Given the description of an element on the screen output the (x, y) to click on. 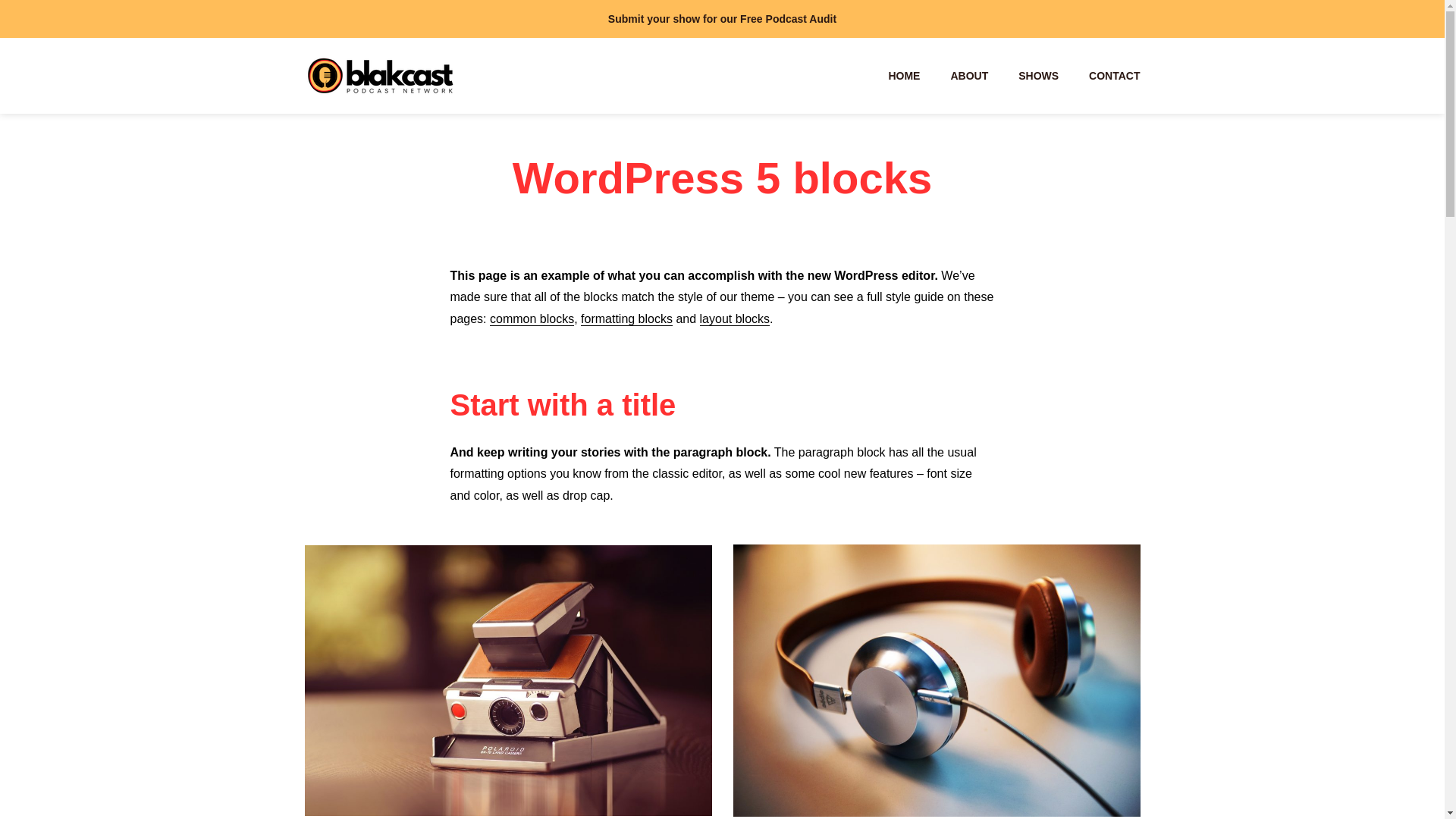
ABOUT (969, 75)
formatting blocks (626, 318)
layout blocks (735, 318)
CONTACT (1114, 75)
SHOWS (1037, 75)
common blocks (531, 318)
Submit your show for our Free Podcast Audit (721, 18)
